Given the description of an element on the screen output the (x, y) to click on. 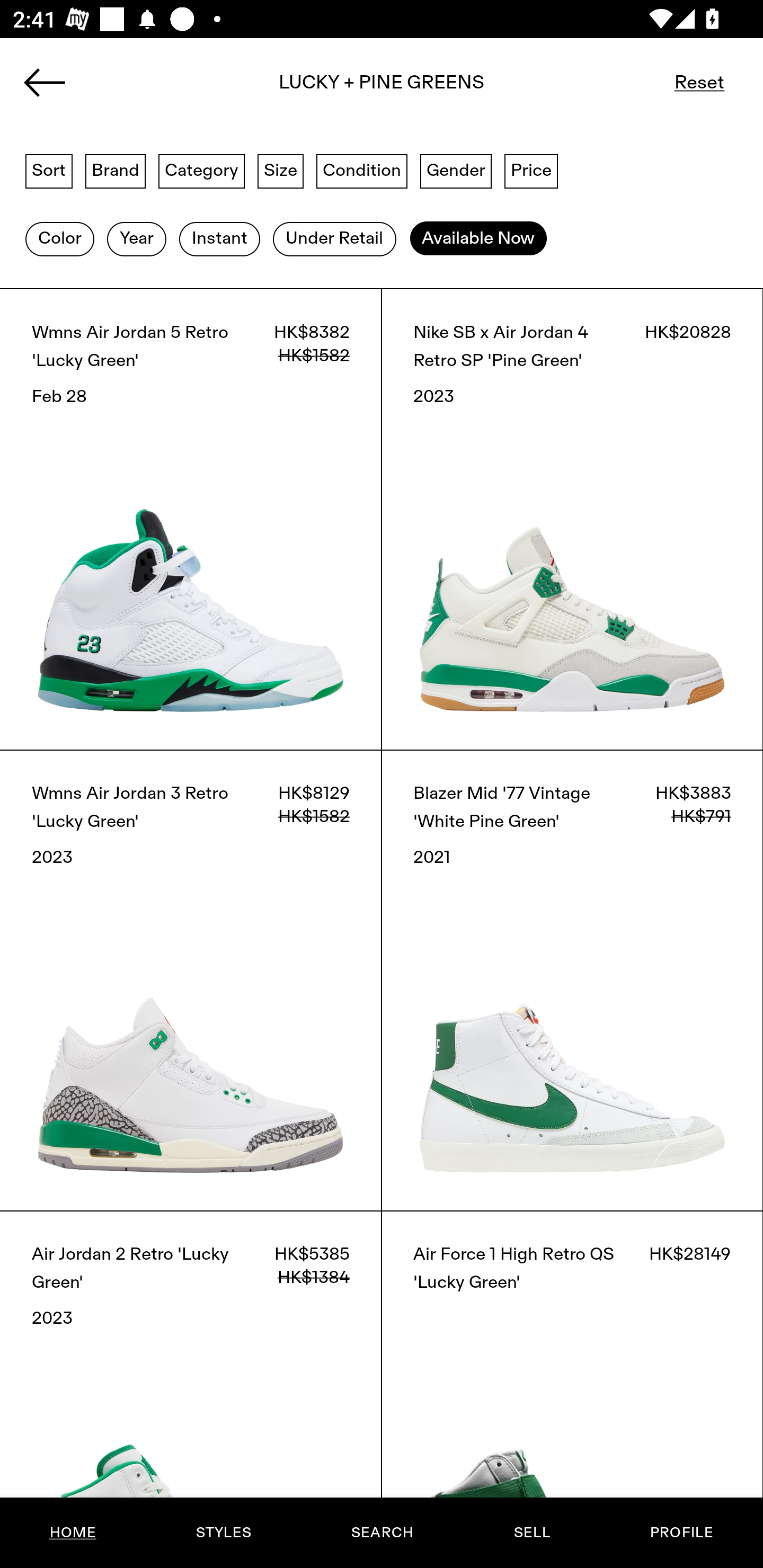
Reset (699, 82)
hoodie (381, 88)
Sort (48, 170)
Brand (115, 170)
Category (201, 170)
Size (280, 170)
Condition (361, 170)
Gender (455, 170)
Price (530, 170)
Color (59, 239)
Year (136, 239)
Instant (219, 239)
Under Retail (334, 239)
Available Now (477, 239)
Air Force 1 High Retro QS 'Lucky Green' HK$28149 (572, 1389)
HOME (72, 1532)
STYLES (222, 1532)
SEARCH (381, 1532)
SELL (531, 1532)
PROFILE (681, 1532)
